Given the description of an element on the screen output the (x, y) to click on. 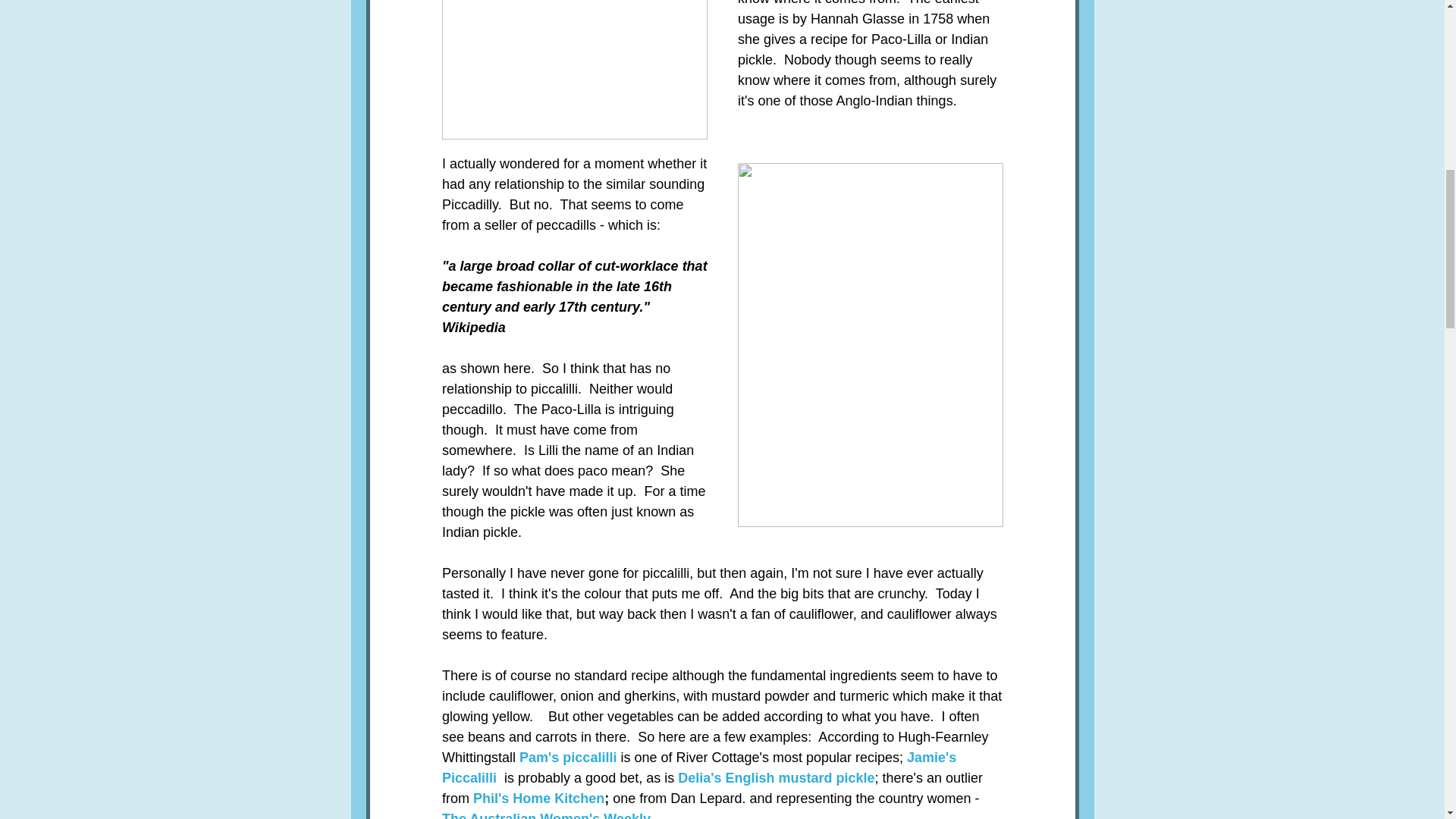
Delia's English mustard pickle (776, 777)
Jamie's Piccalilli (700, 767)
Pam's piccalilli (567, 757)
